Given the description of an element on the screen output the (x, y) to click on. 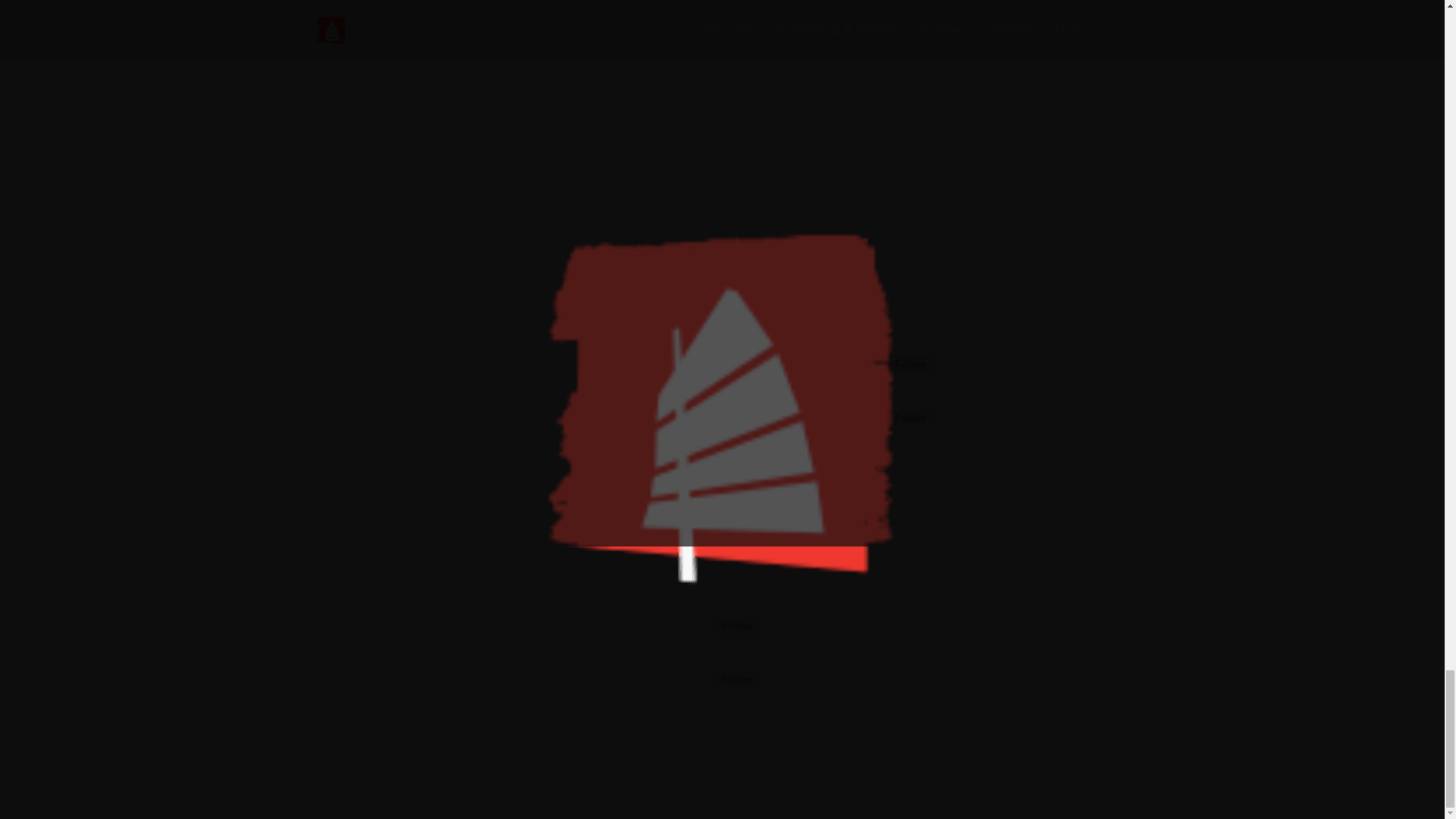
Follow on Facebook (867, 364)
Follow on Facebook (694, 627)
Follow on Instagram (867, 418)
Facebook (909, 363)
Instagram (737, 678)
Instagram (909, 417)
Follow on Instagram (694, 680)
Facebook (737, 625)
